Given the description of an element on the screen output the (x, y) to click on. 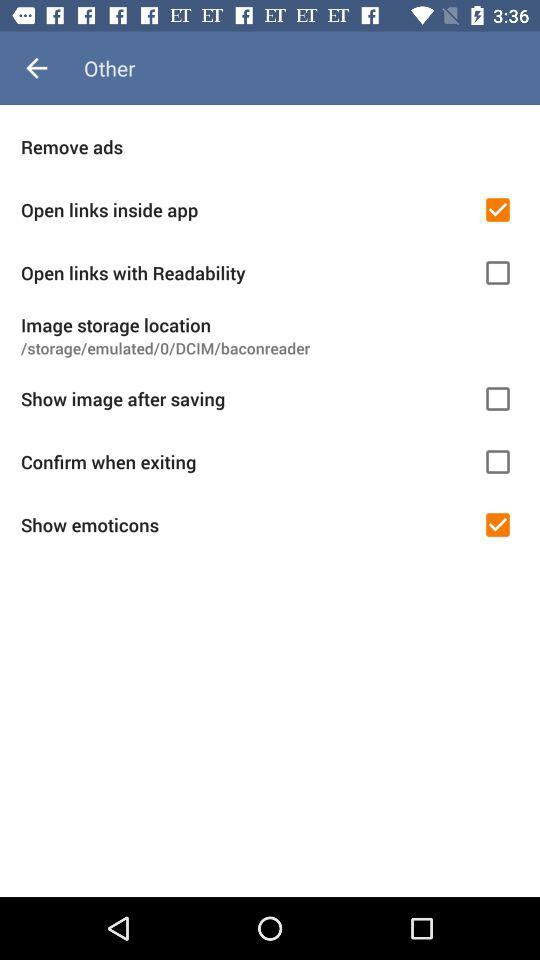
open the item to the left of other item (36, 68)
